Given the description of an element on the screen output the (x, y) to click on. 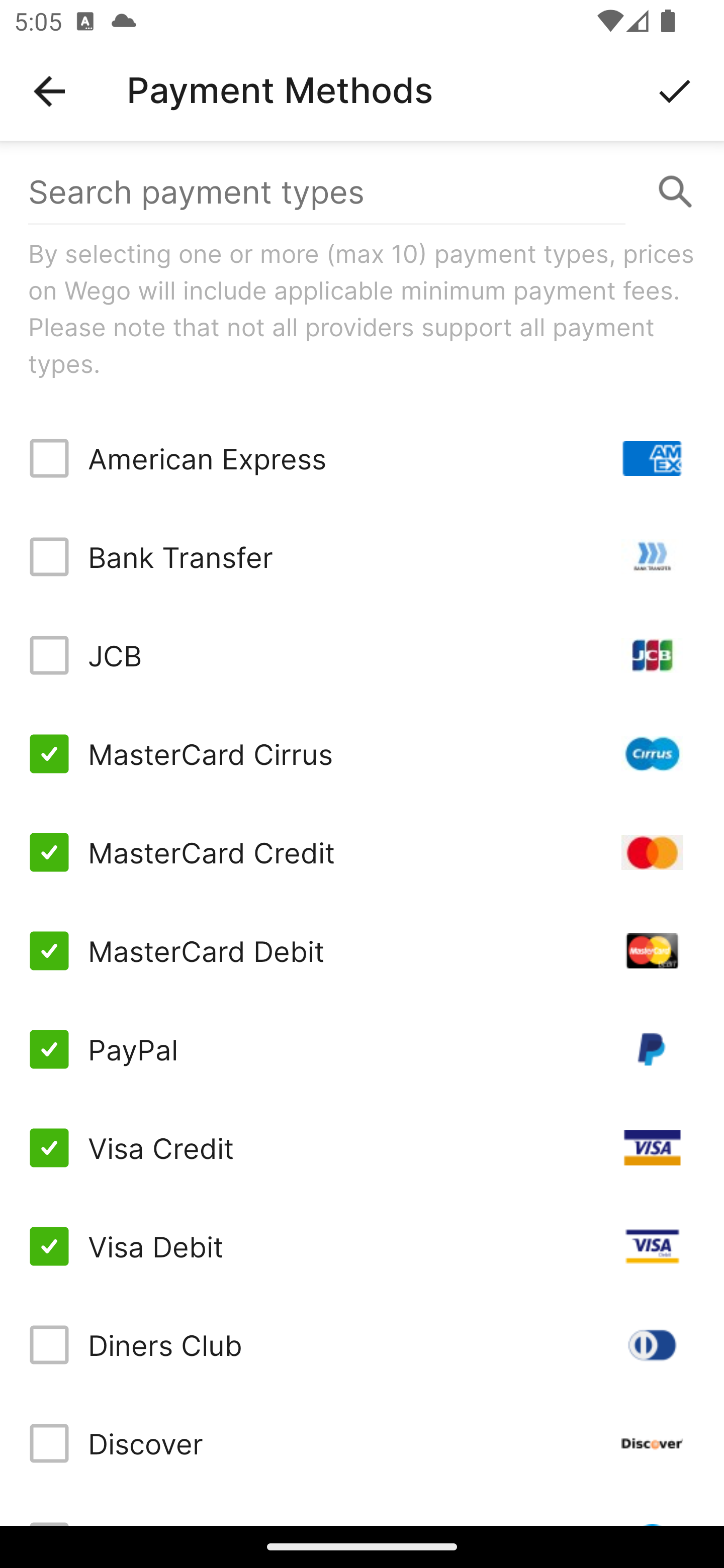
Search payment types  (361, 191)
American Express (362, 458)
Bank Transfer (362, 557)
JCB (362, 655)
MasterCard Cirrus (362, 753)
MasterCard Credit (362, 851)
MasterCard Debit (362, 950)
PayPal (362, 1049)
Visa Credit (362, 1147)
Visa Debit (362, 1245)
Diners Club (362, 1344)
Discover (362, 1442)
